Given the description of an element on the screen output the (x, y) to click on. 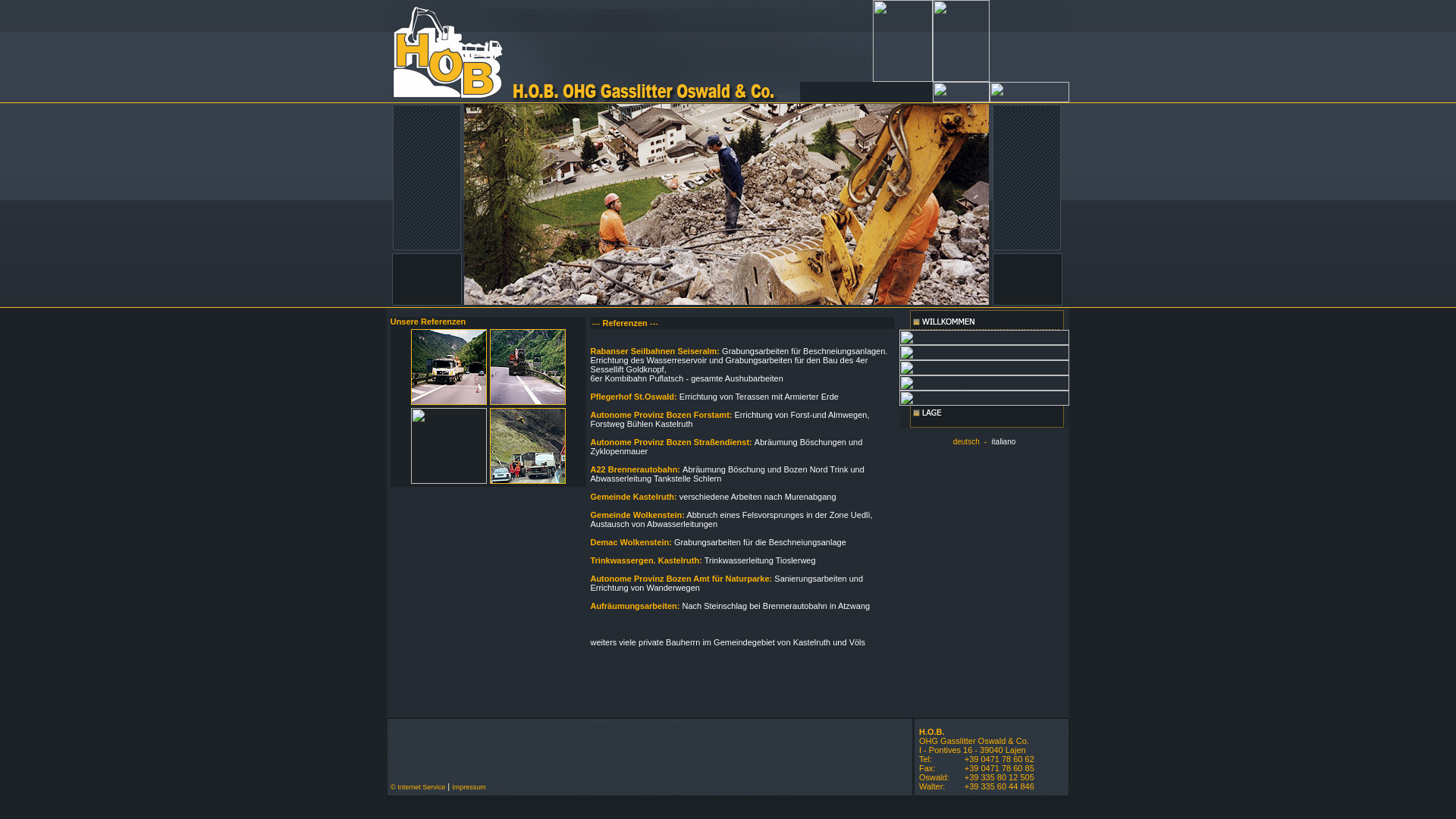
Impressum Element type: text (468, 786)
italiano Element type: text (1003, 441)
deutsch Element type: text (966, 441)
